Given the description of an element on the screen output the (x, y) to click on. 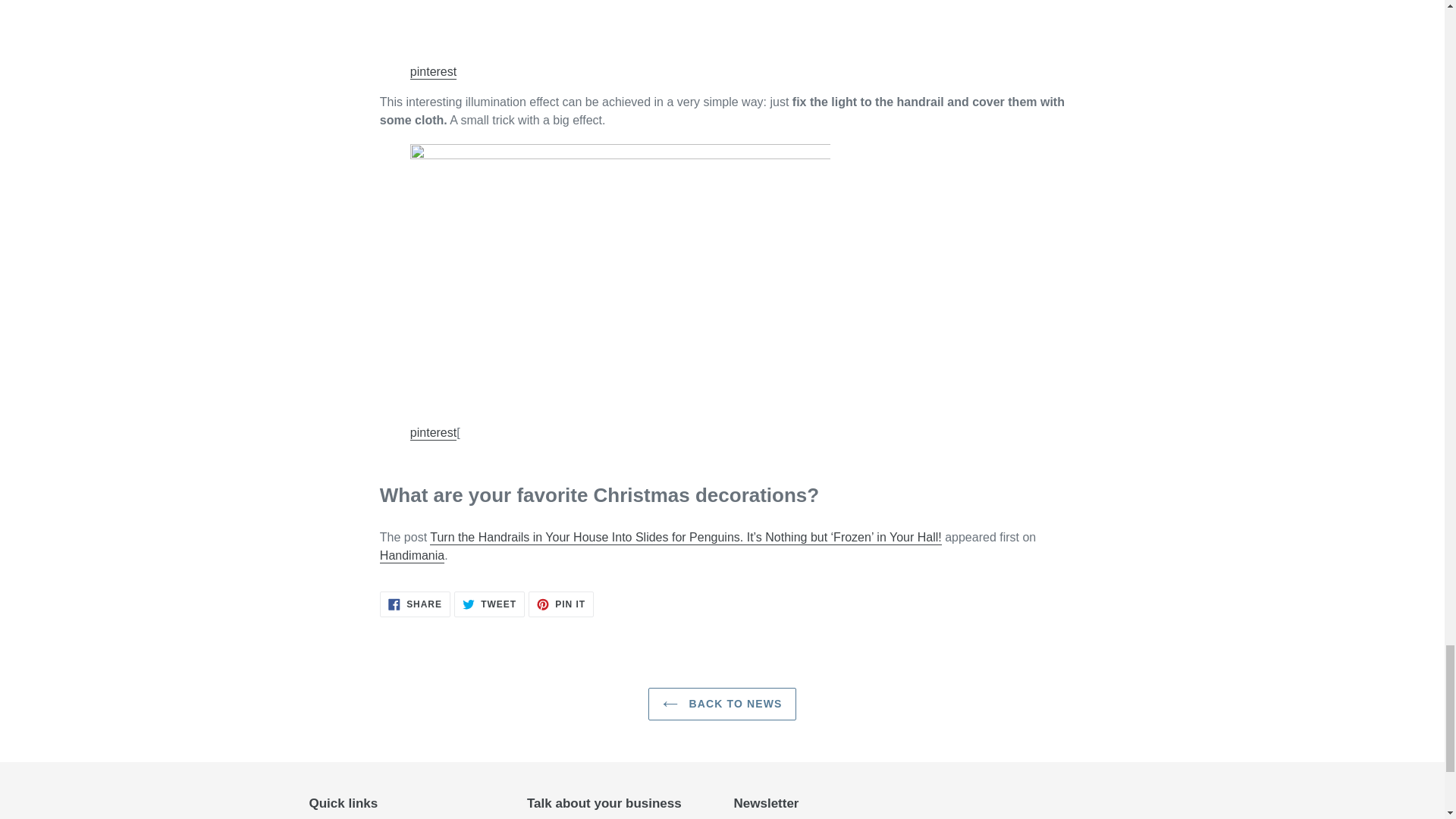
pinterest (433, 72)
Handimania (561, 604)
pinterest (412, 555)
BACK TO NEWS (433, 432)
